Given the description of an element on the screen output the (x, y) to click on. 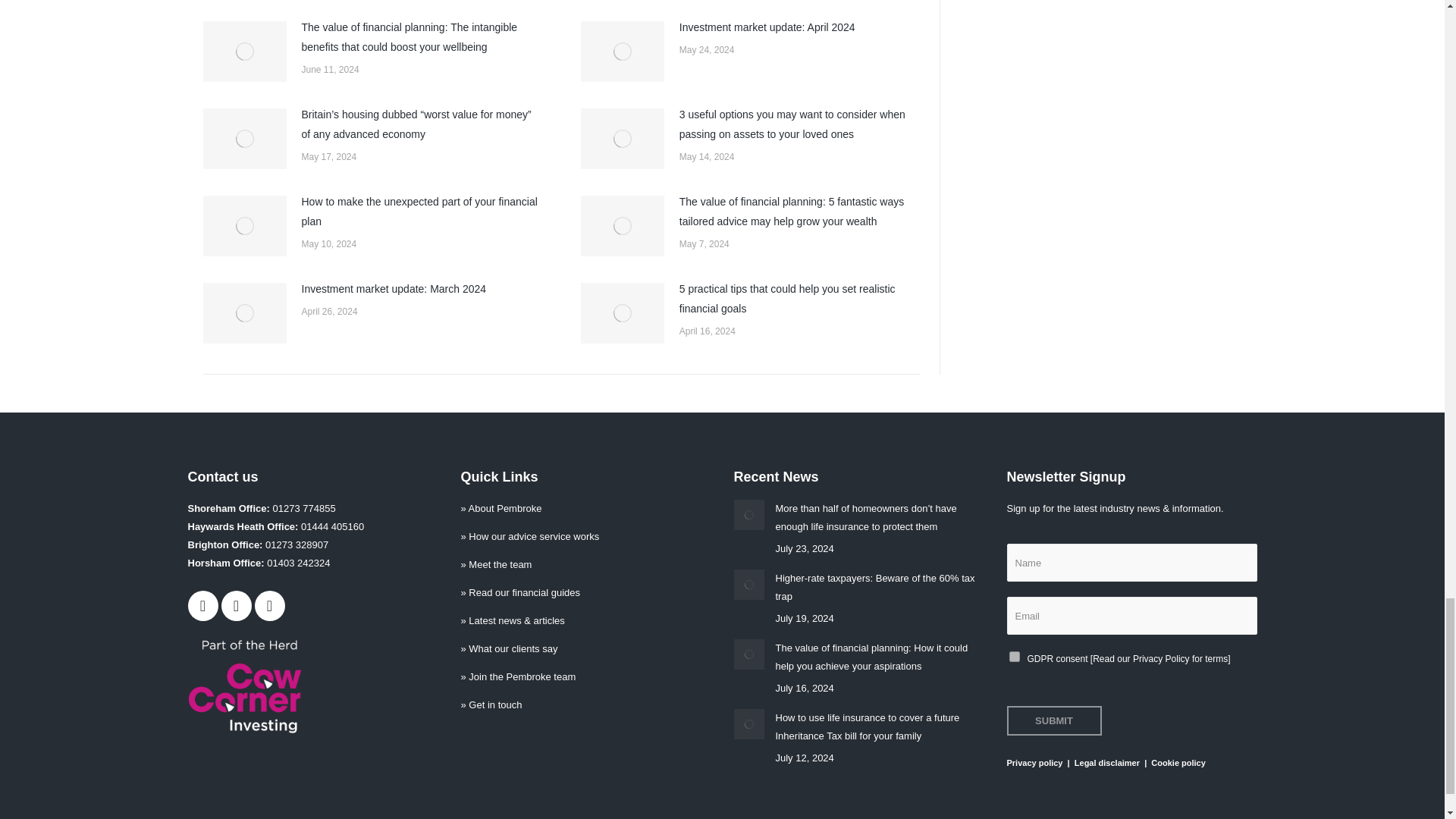
Linkedin (269, 605)
X (236, 605)
Facebook (202, 605)
